Given the description of an element on the screen output the (x, y) to click on. 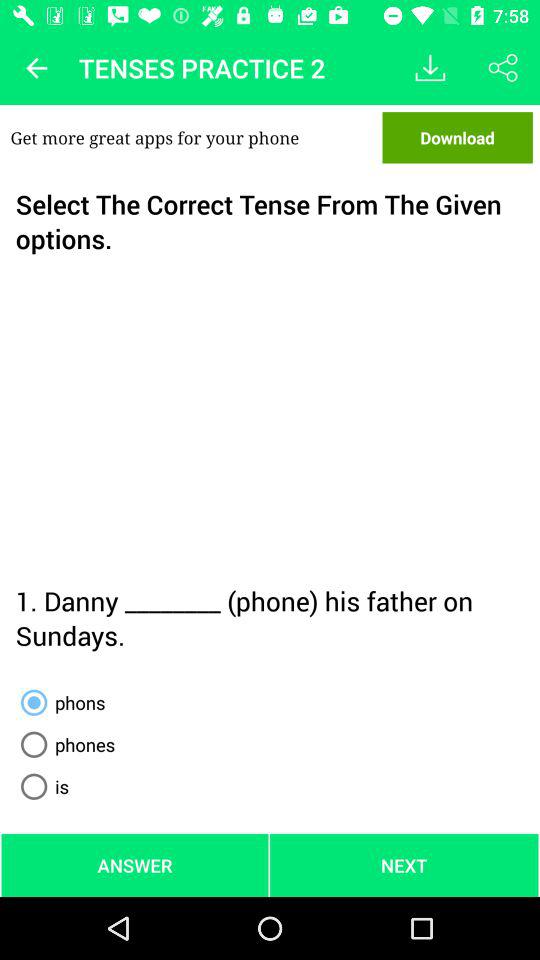
open the radio button below phons (64, 744)
